Given the description of an element on the screen output the (x, y) to click on. 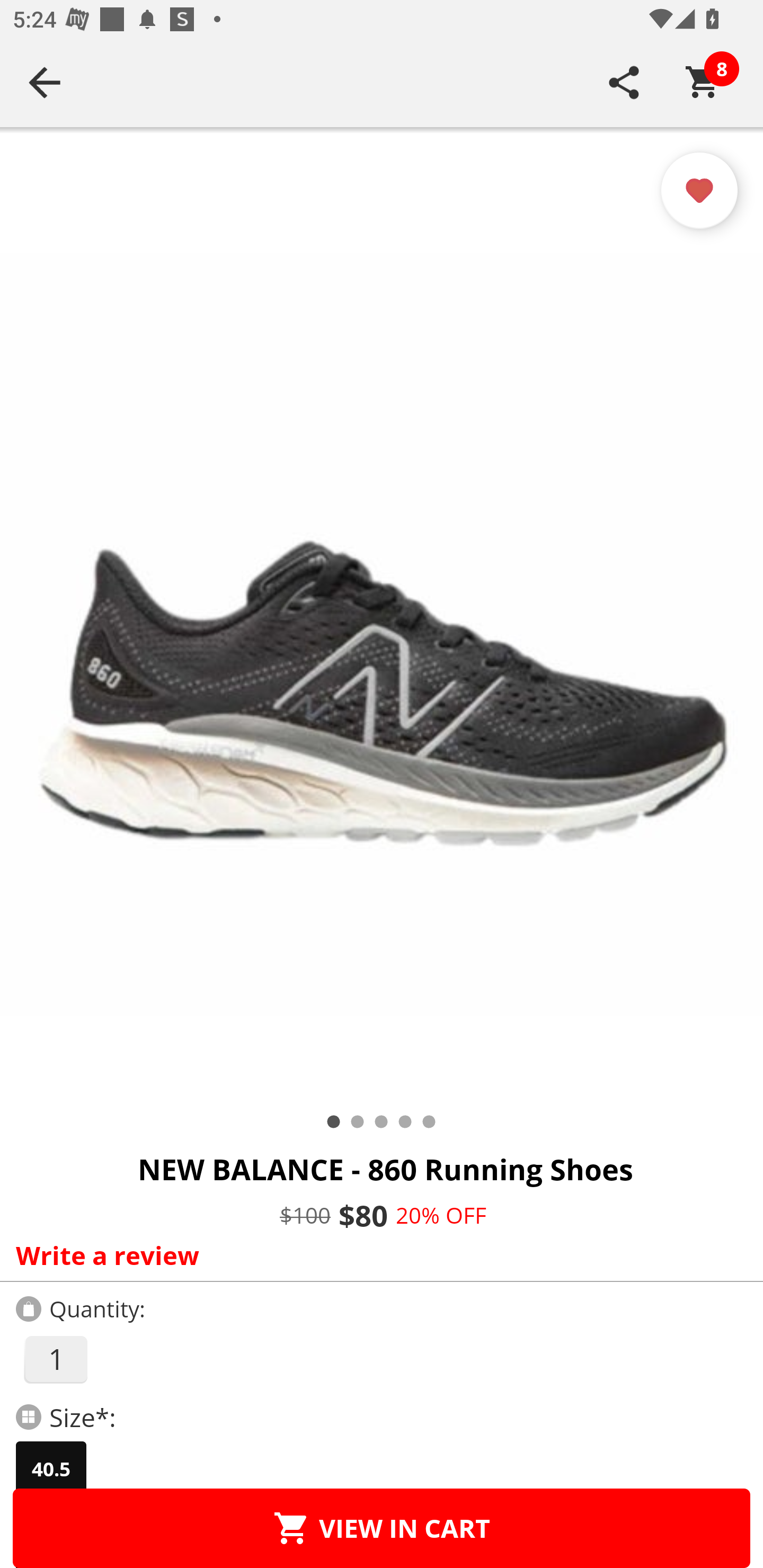
Navigate up (44, 82)
SHARE (623, 82)
Cart (703, 81)
Write a review (377, 1255)
1 (55, 1358)
40.5 (51, 1468)
VIEW IN CART (381, 1528)
